Given the description of an element on the screen output the (x, y) to click on. 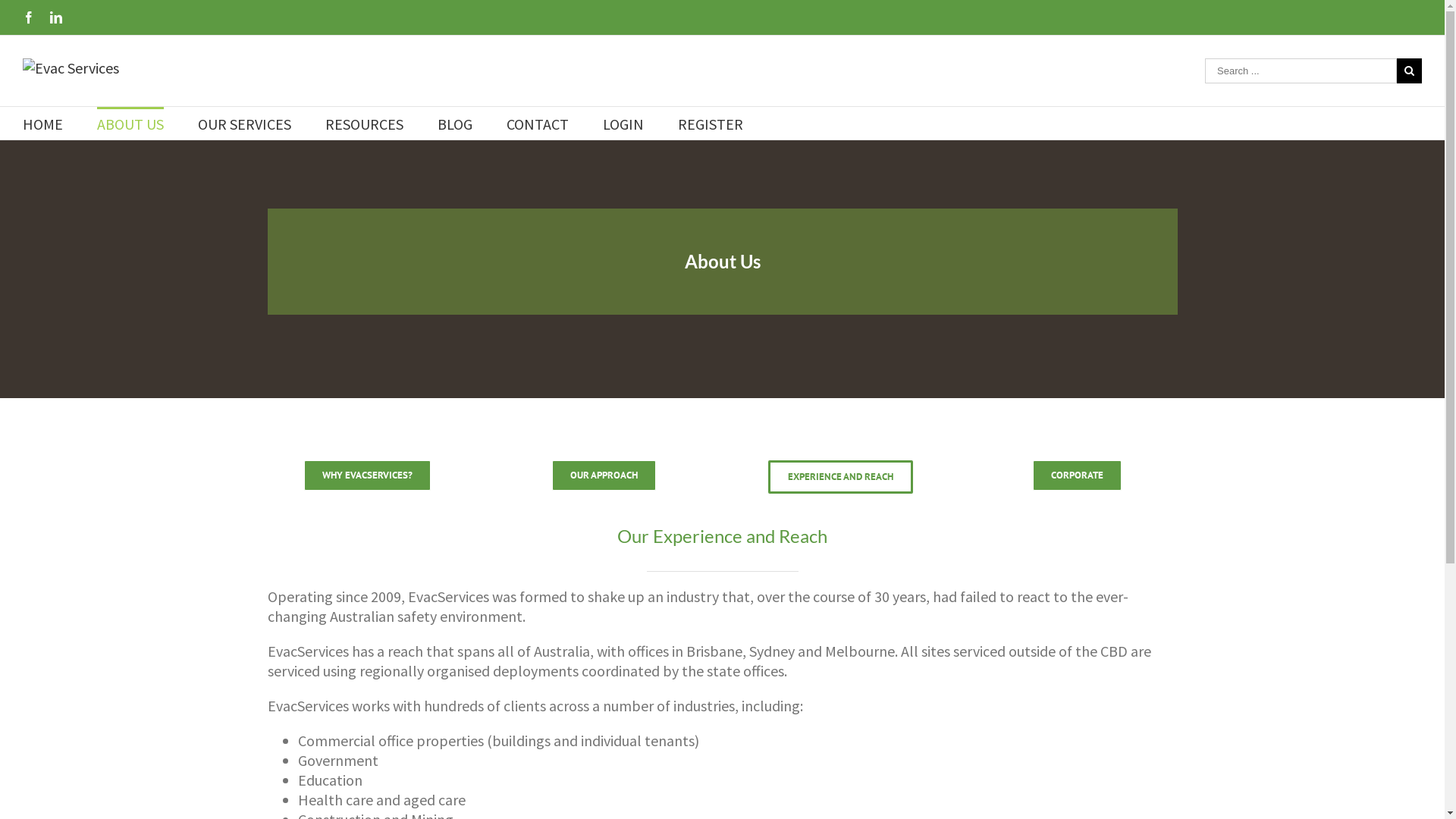
OUR APPROACH Element type: text (603, 475)
CORPORATE Element type: text (1076, 475)
ABOUT US Element type: text (130, 122)
WHY EVACSERVICES? Element type: text (367, 475)
REGISTER Element type: text (710, 122)
CONTACT Element type: text (537, 122)
EXPERIENCE AND REACH Element type: text (840, 476)
BLOG Element type: text (454, 122)
Facebook Element type: hover (28, 17)
OUR SERVICES Element type: text (244, 122)
Linkedin Element type: hover (56, 17)
HOME Element type: text (42, 122)
LOGIN Element type: text (622, 122)
RESOURCES Element type: text (364, 122)
